Given the description of an element on the screen output the (x, y) to click on. 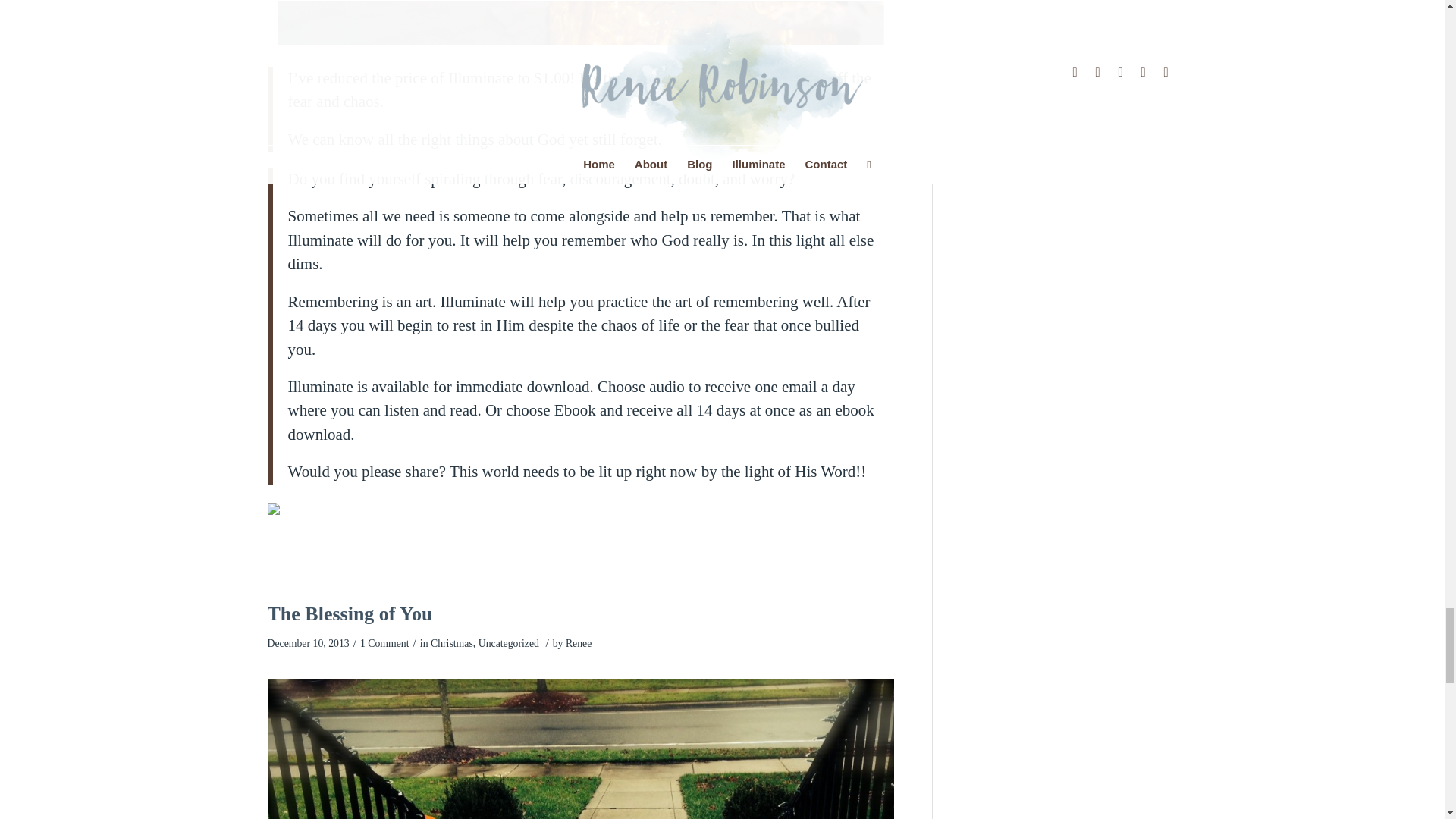
Posts by Renee (578, 643)
Permanent Link: The Blessing of You (349, 613)
